Given the description of an element on the screen output the (x, y) to click on. 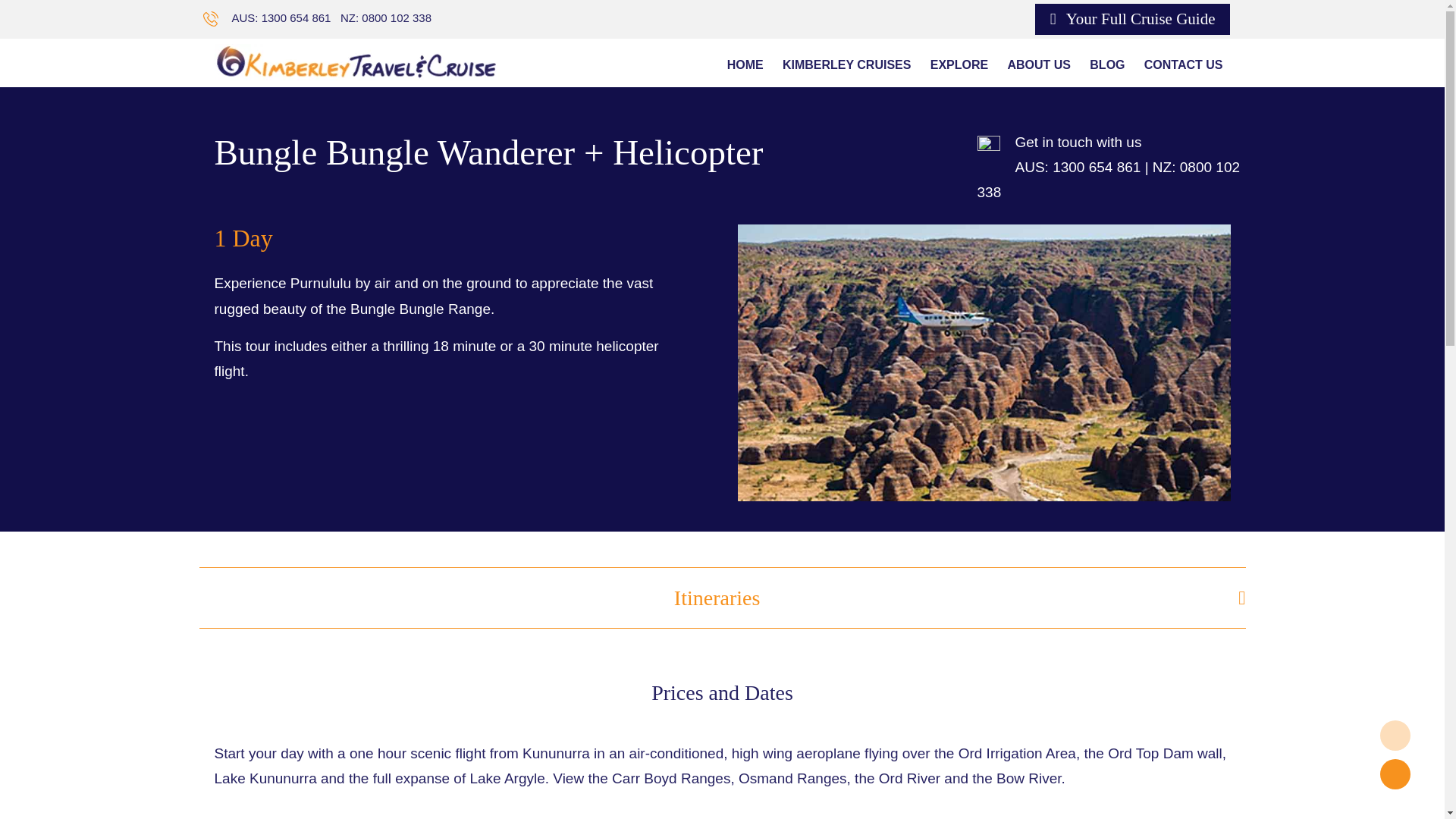
0800 102 338 (395, 17)
EXPLORE (959, 64)
Your Full Cruise Guide (1132, 19)
ABOUT US (1038, 64)
KIMBERLEY CRUISES (846, 64)
1300 654 861 (1096, 166)
0800 102 338 (1108, 178)
BLOG (1106, 64)
CONTACT US (1183, 64)
